Given the description of an element on the screen output the (x, y) to click on. 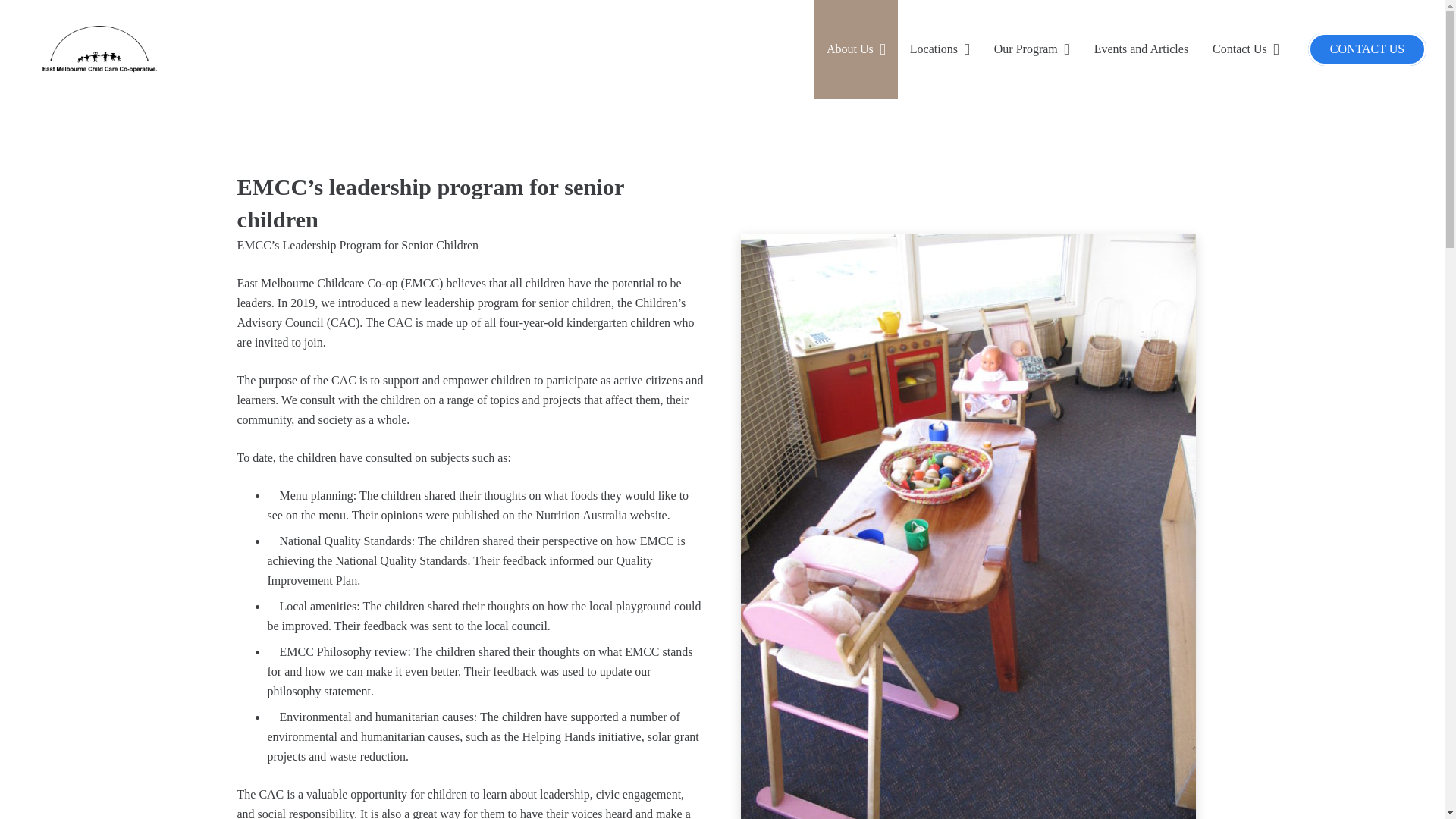
Contact Us (1244, 49)
CONTACT US (1366, 48)
Our Program (1031, 49)
Events and Articles (1140, 49)
